Given the description of an element on the screen output the (x, y) to click on. 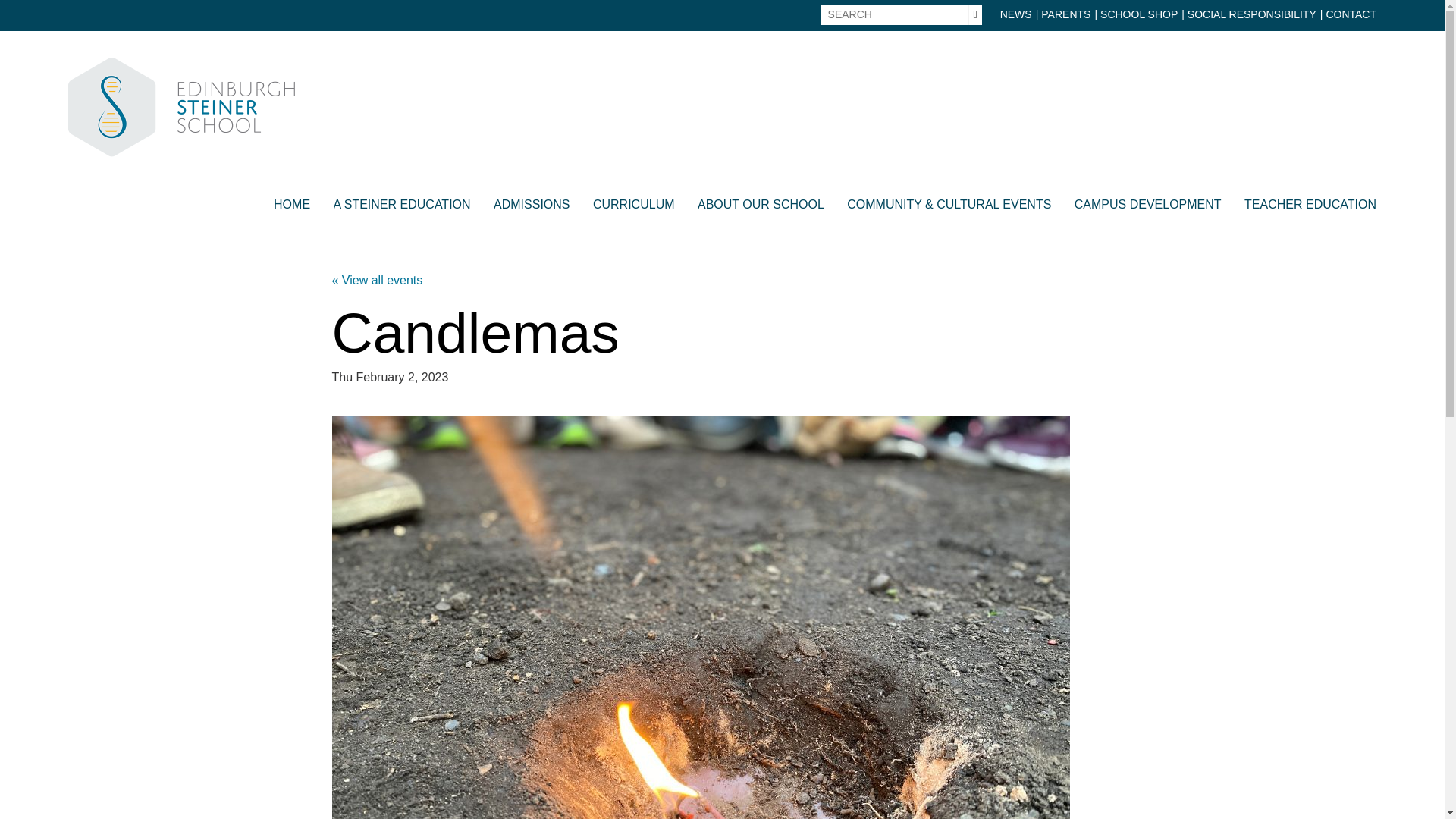
HOME (291, 208)
CURRICULUM (633, 208)
NEWS (1016, 15)
SCHOOL SHOP (1138, 15)
PARENTS (1065, 15)
ABOUT OUR SCHOOL (760, 208)
CONTACT (1349, 15)
SOCIAL RESPONSIBILITY (1252, 15)
ADMISSIONS (531, 208)
A STEINER EDUCATION (401, 208)
